Given the description of an element on the screen output the (x, y) to click on. 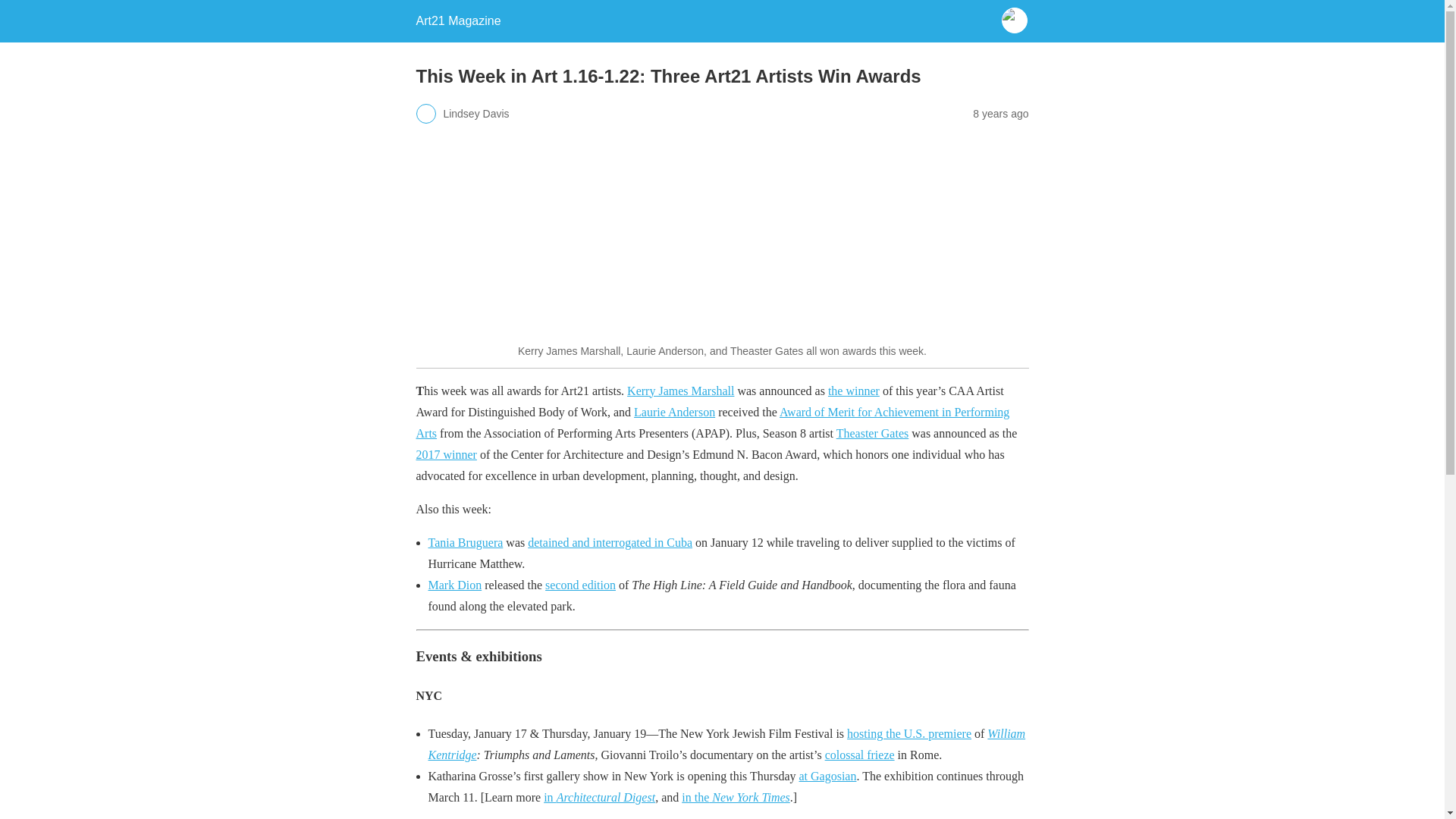
hosting the U.S. premiere (909, 733)
Kerry James Marshall (680, 390)
Award of Merit for Achievement in Performing Arts (711, 422)
Art21 Magazine (457, 20)
colossal frieze (860, 754)
Laurie Anderson (673, 411)
detained and interrogated in Cuba (610, 542)
Theaster Gates (871, 432)
in the New York Times (735, 797)
at Gagosian (826, 775)
